Given the description of an element on the screen output the (x, y) to click on. 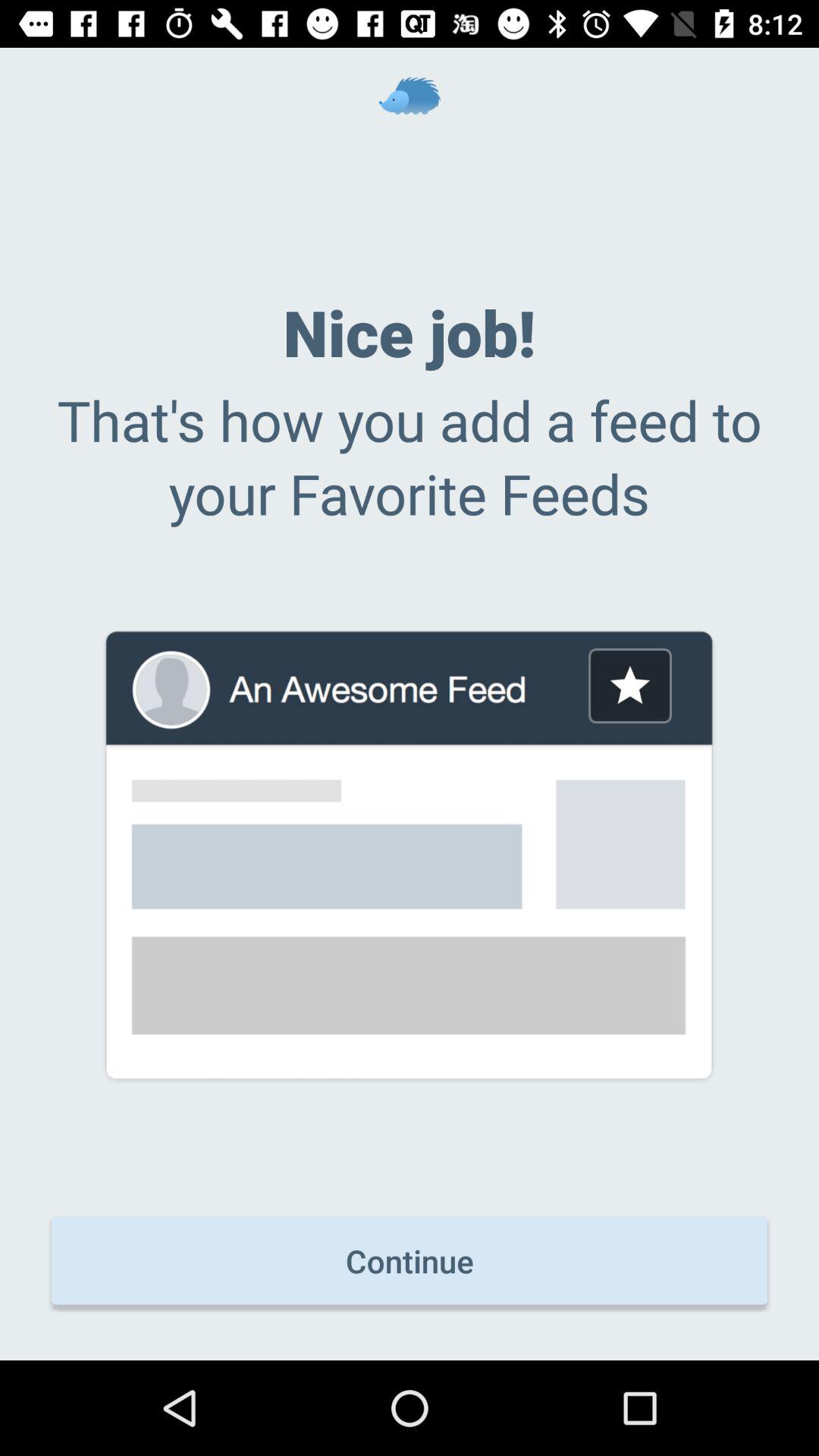
press the item on the right (629, 685)
